Given the description of an element on the screen output the (x, y) to click on. 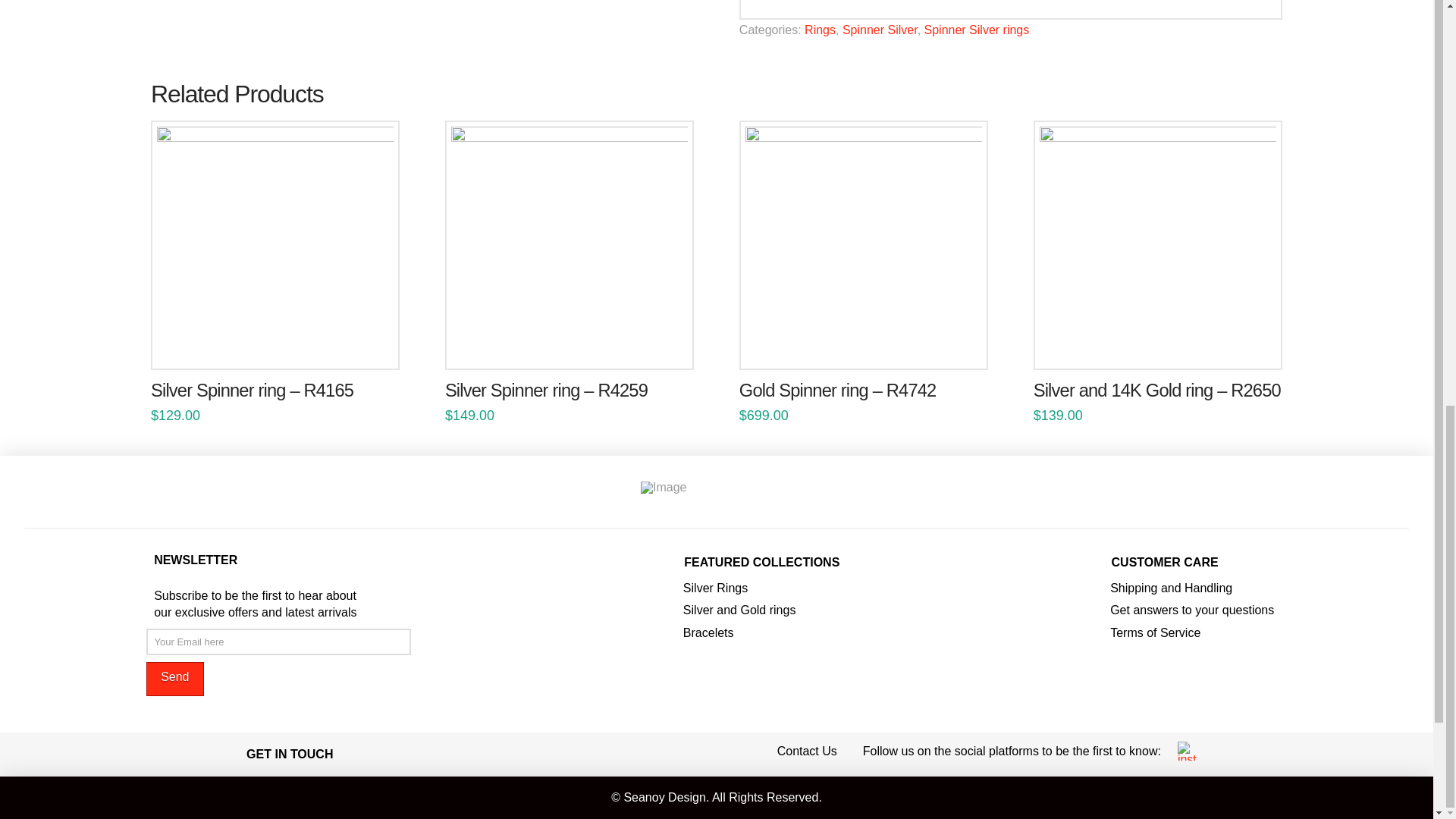
Send (175, 678)
